Given the description of an element on the screen output the (x, y) to click on. 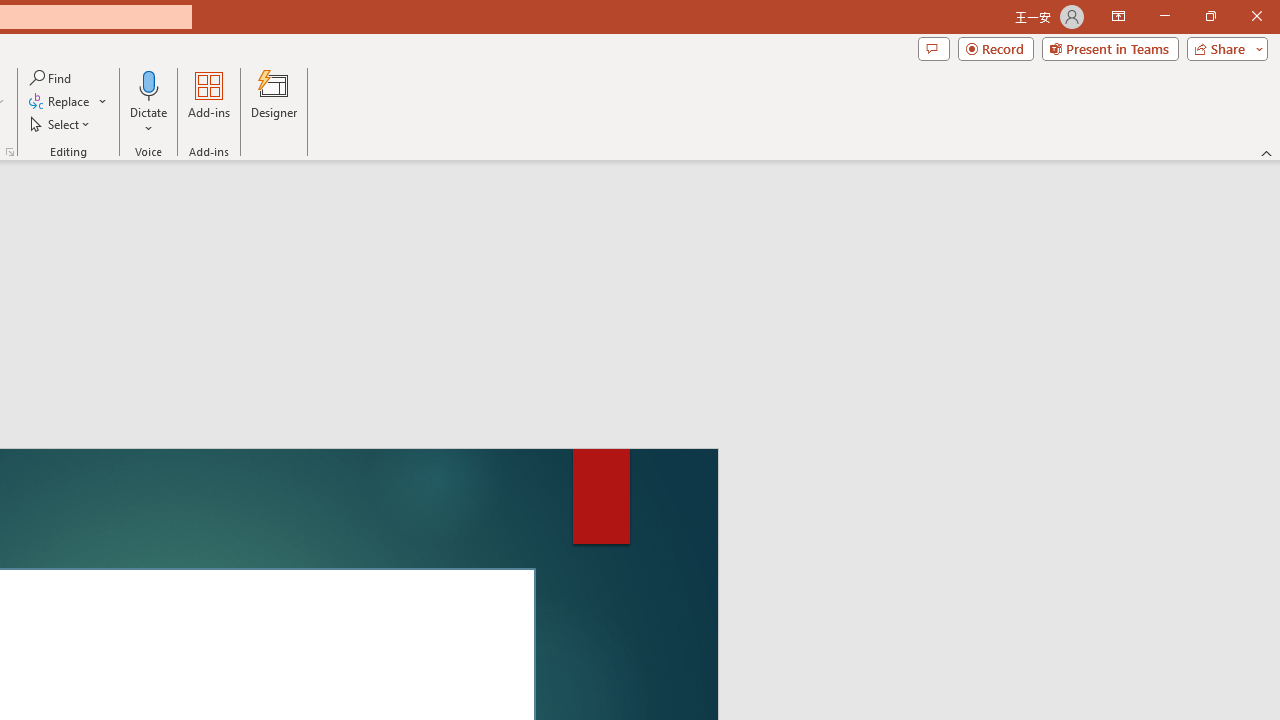
Select (61, 124)
